Given the description of an element on the screen output the (x, y) to click on. 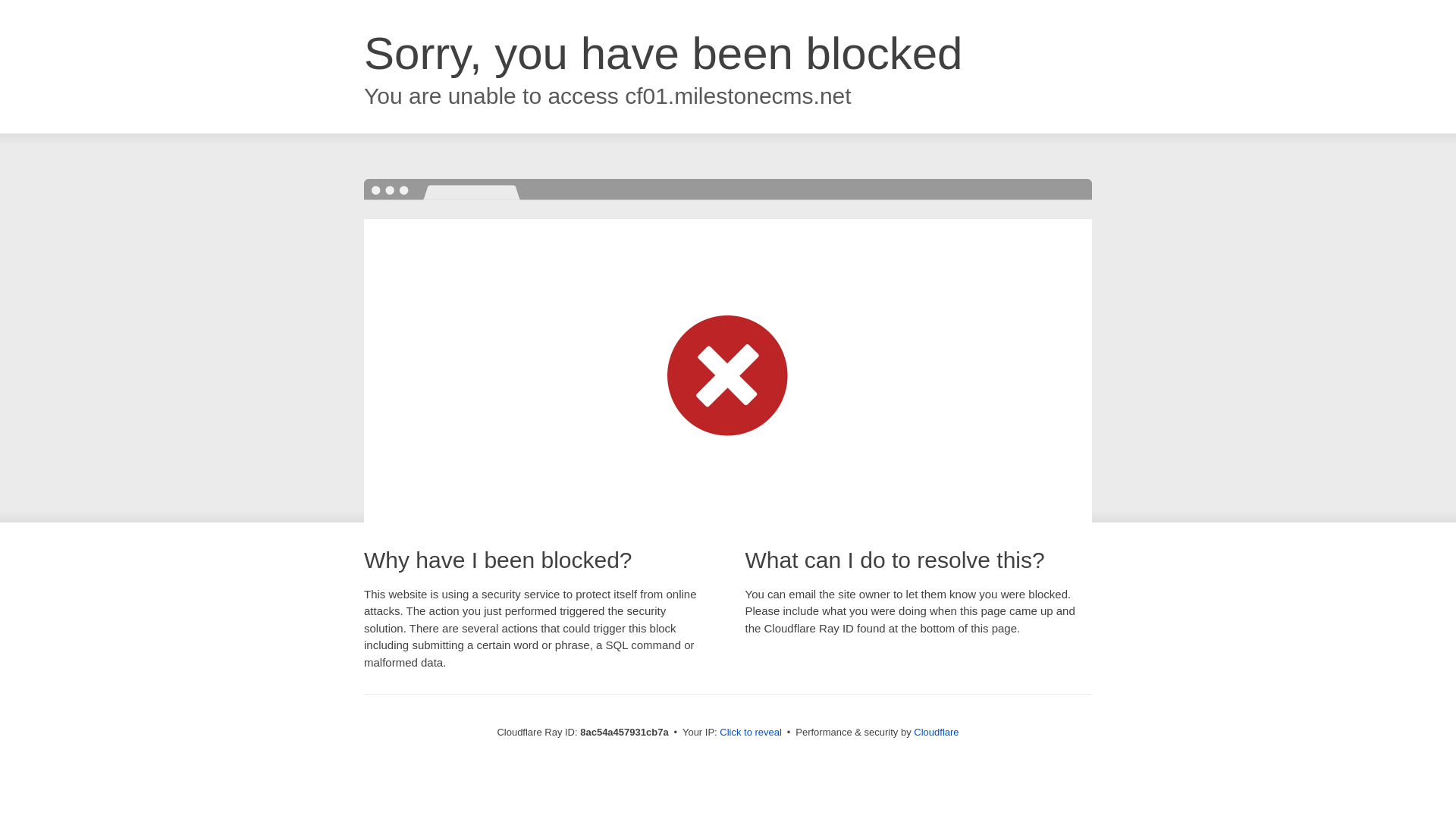
Click to reveal (750, 732)
Cloudflare (936, 731)
